Given the description of an element on the screen output the (x, y) to click on. 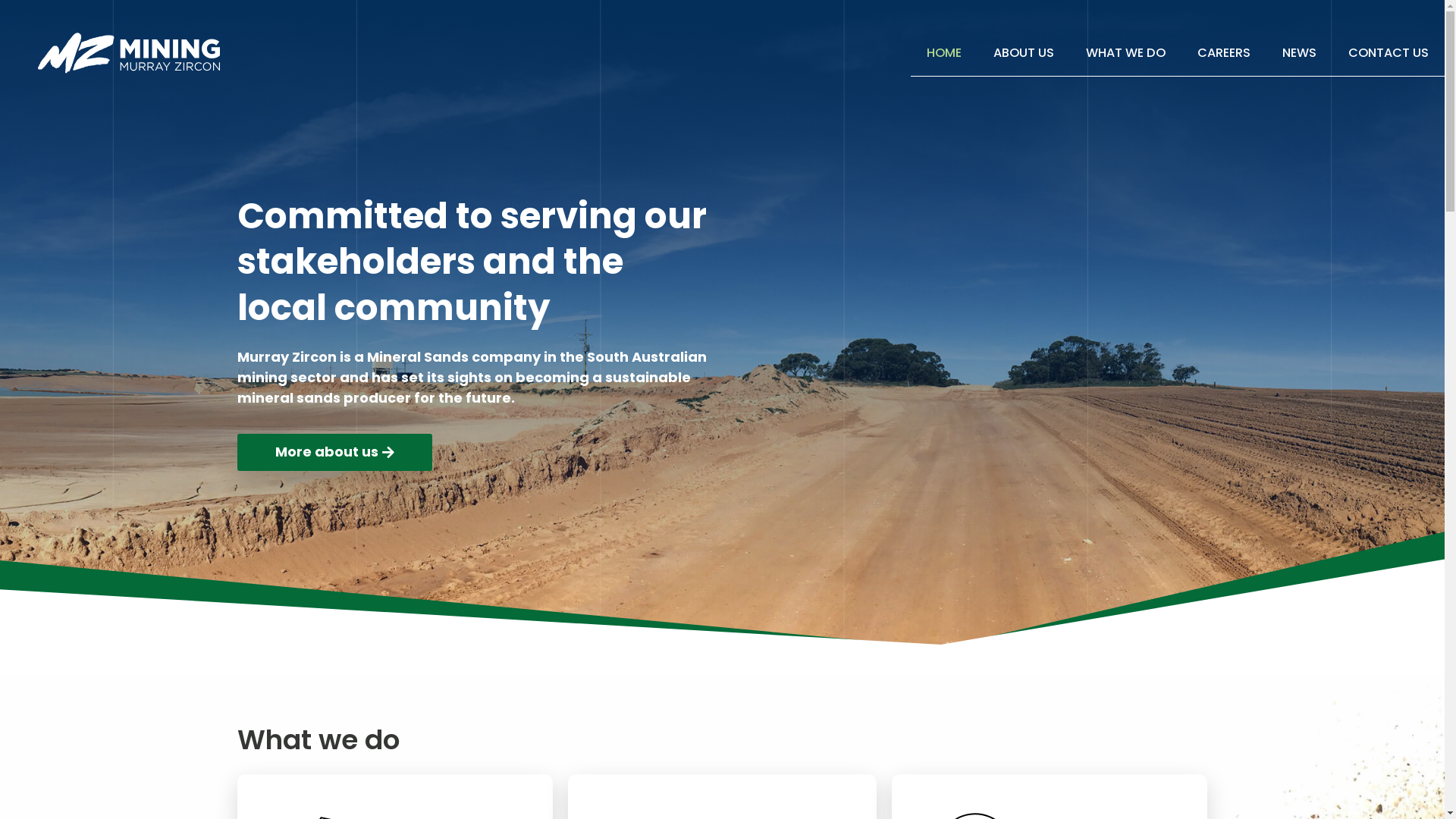
CONTACT US Element type: text (1388, 53)
NEWS Element type: text (1299, 53)
More about us Element type: text (333, 451)
WHAT WE DO Element type: text (1125, 53)
ABOUT US Element type: text (1023, 53)
CAREERS Element type: text (1223, 53)
HOME Element type: text (943, 53)
